Given the description of an element on the screen output the (x, y) to click on. 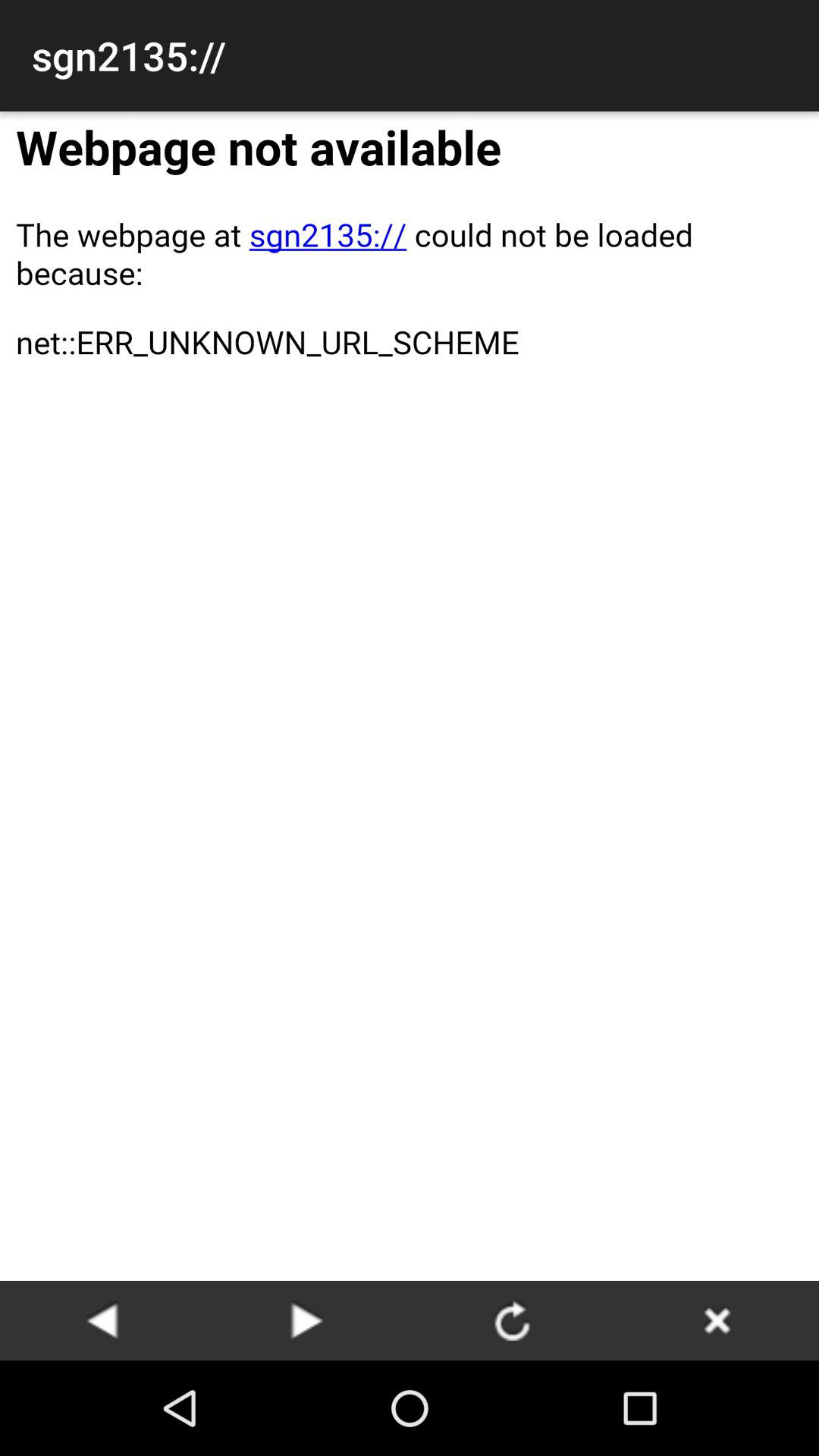
go to previous (102, 1320)
